Given the description of an element on the screen output the (x, y) to click on. 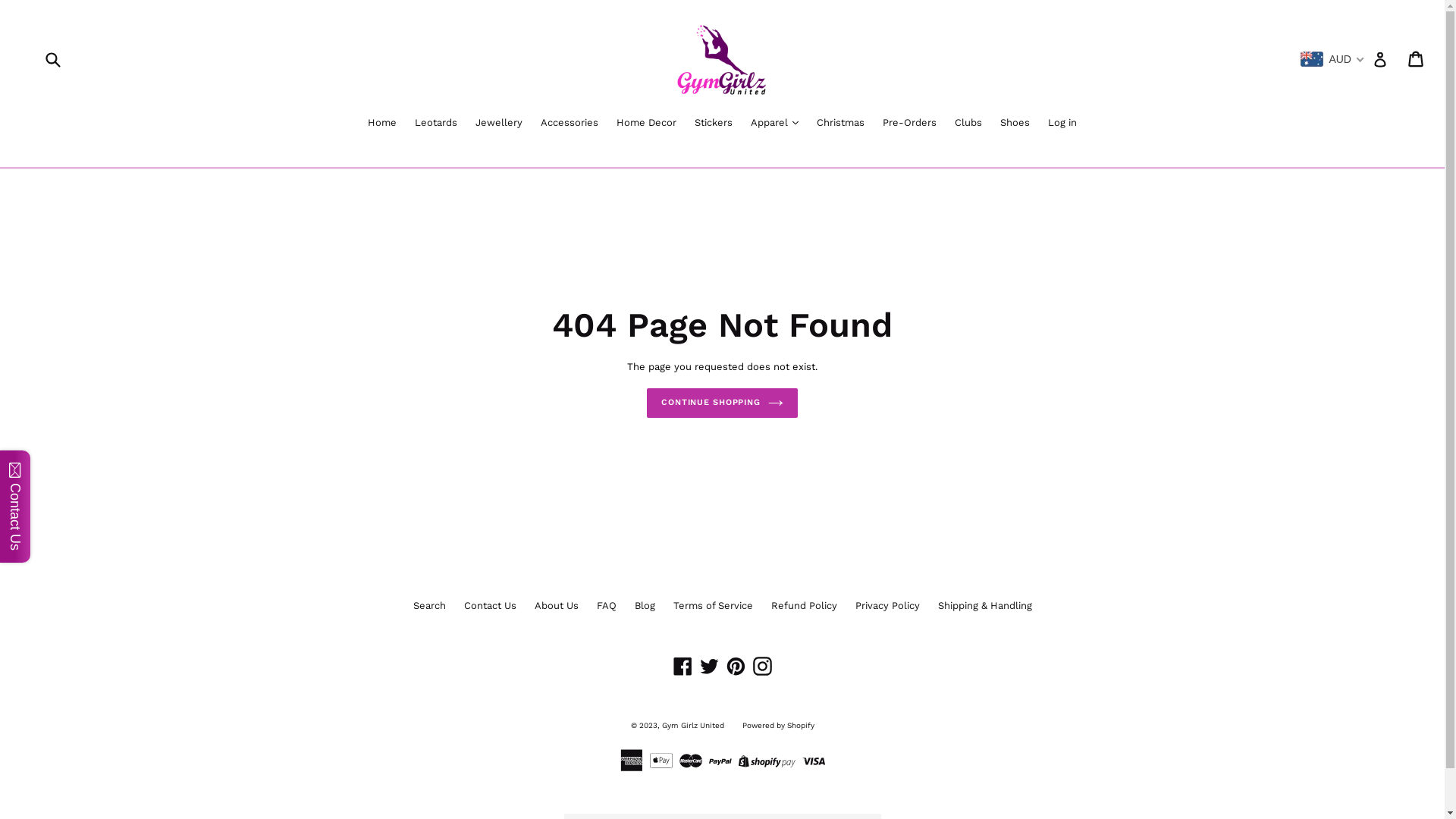
Instagram Element type: text (762, 665)
Home Element type: text (382, 123)
Jewellery Element type: text (498, 123)
Clubs Element type: text (968, 123)
Gym Girlz United Element type: text (692, 725)
Stickers Element type: text (713, 123)
Accessories Element type: text (569, 123)
Submit Element type: text (51, 58)
Powered by Shopify Element type: text (777, 725)
Log in Element type: text (1062, 123)
Facebook Element type: text (681, 665)
Terms of Service Element type: text (713, 605)
Cart
Cart Element type: text (1416, 58)
Pinterest Element type: text (734, 665)
Privacy Policy Element type: text (887, 605)
Home Decor Element type: text (646, 123)
Pre-Orders Element type: text (909, 123)
Log in Element type: text (1379, 59)
Christmas Element type: text (840, 123)
Twitter Element type: text (709, 665)
FAQ Element type: text (605, 605)
About Us Element type: text (555, 605)
Leotards Element type: text (435, 123)
Blog Element type: text (643, 605)
CONTINUE SHOPPING Element type: text (721, 402)
Shipping & Handling Element type: text (984, 605)
Shoes Element type: text (1014, 123)
Search Element type: text (428, 605)
Contact Us Element type: text (490, 605)
Refund Policy Element type: text (803, 605)
